Given the description of an element on the screen output the (x, y) to click on. 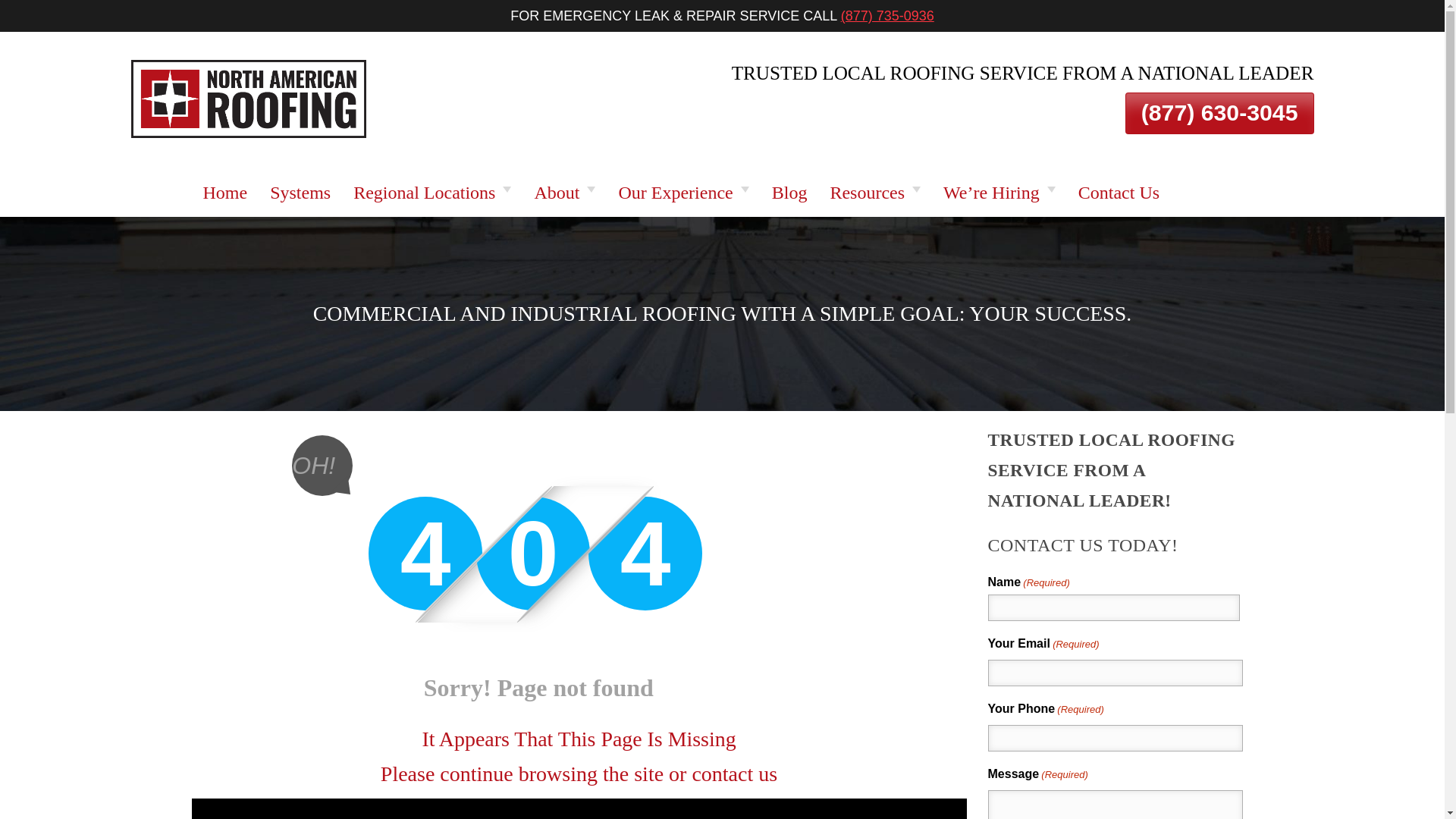
Home (224, 192)
Systems (300, 192)
Regional Locations (432, 192)
